Given the description of an element on the screen output the (x, y) to click on. 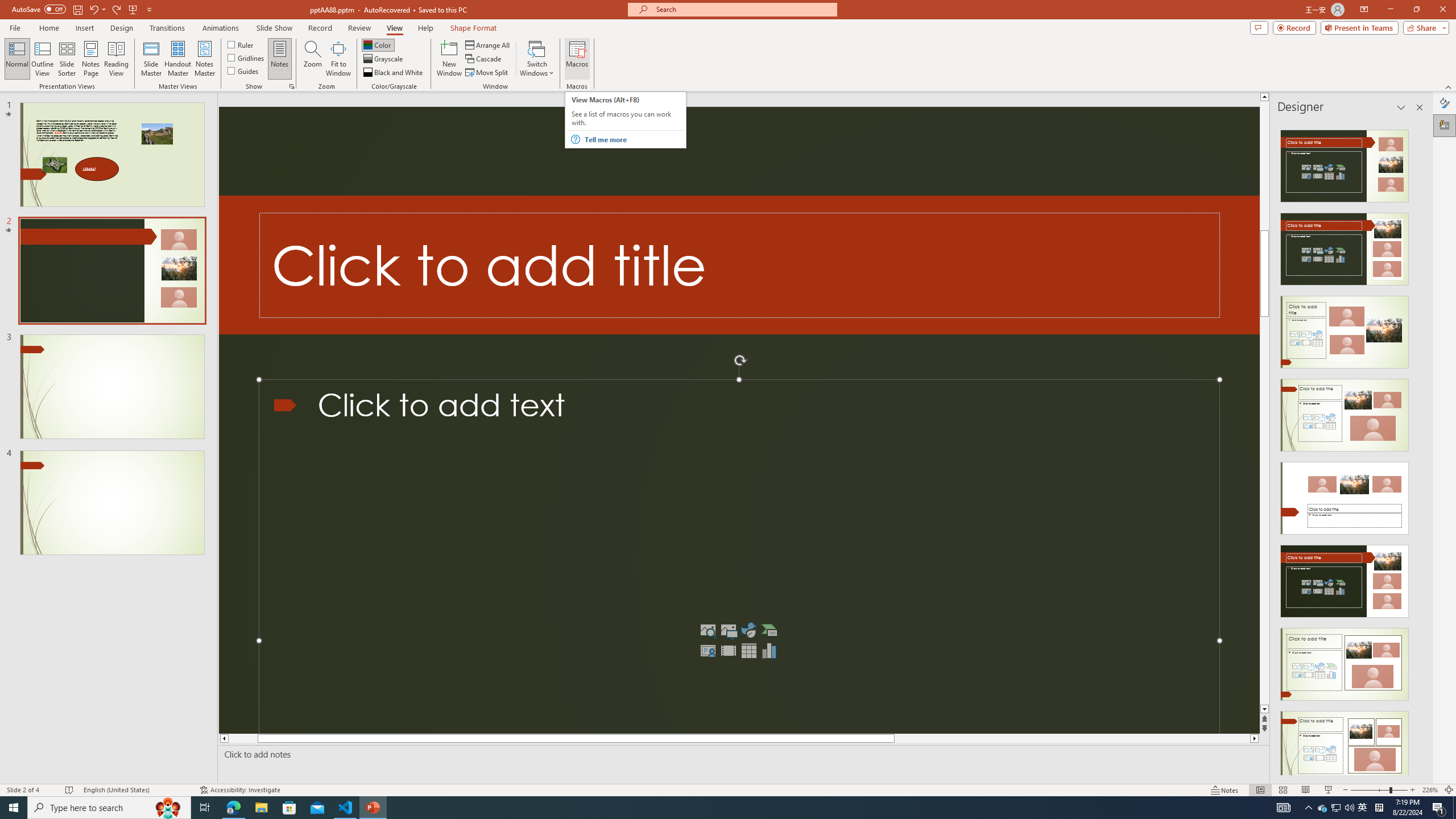
Insert Table (748, 650)
Notes Master (204, 58)
Outline View (42, 58)
Grid Settings... (291, 85)
